Given the description of an element on the screen output the (x, y) to click on. 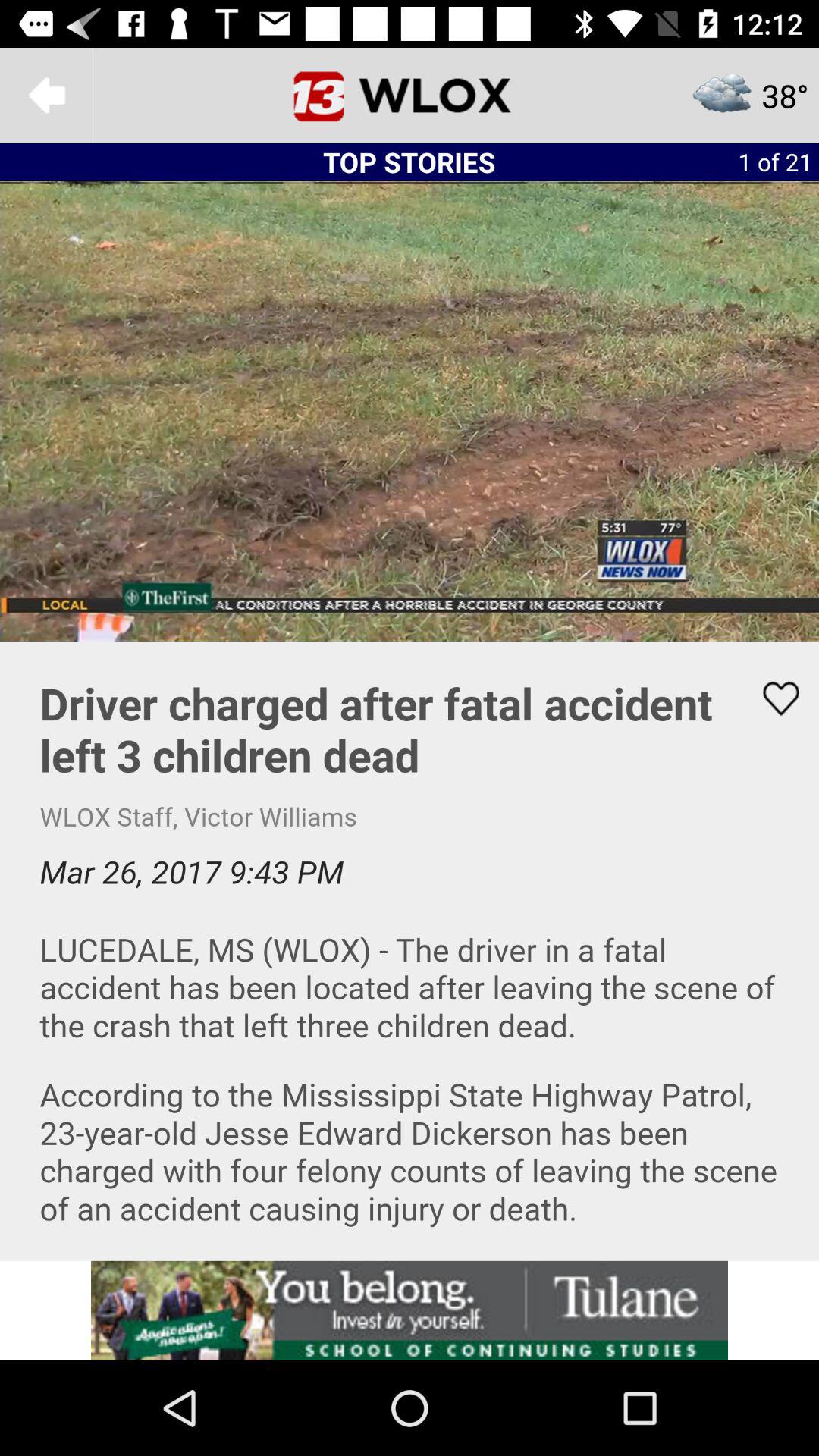
news headline (409, 950)
